Given the description of an element on the screen output the (x, y) to click on. 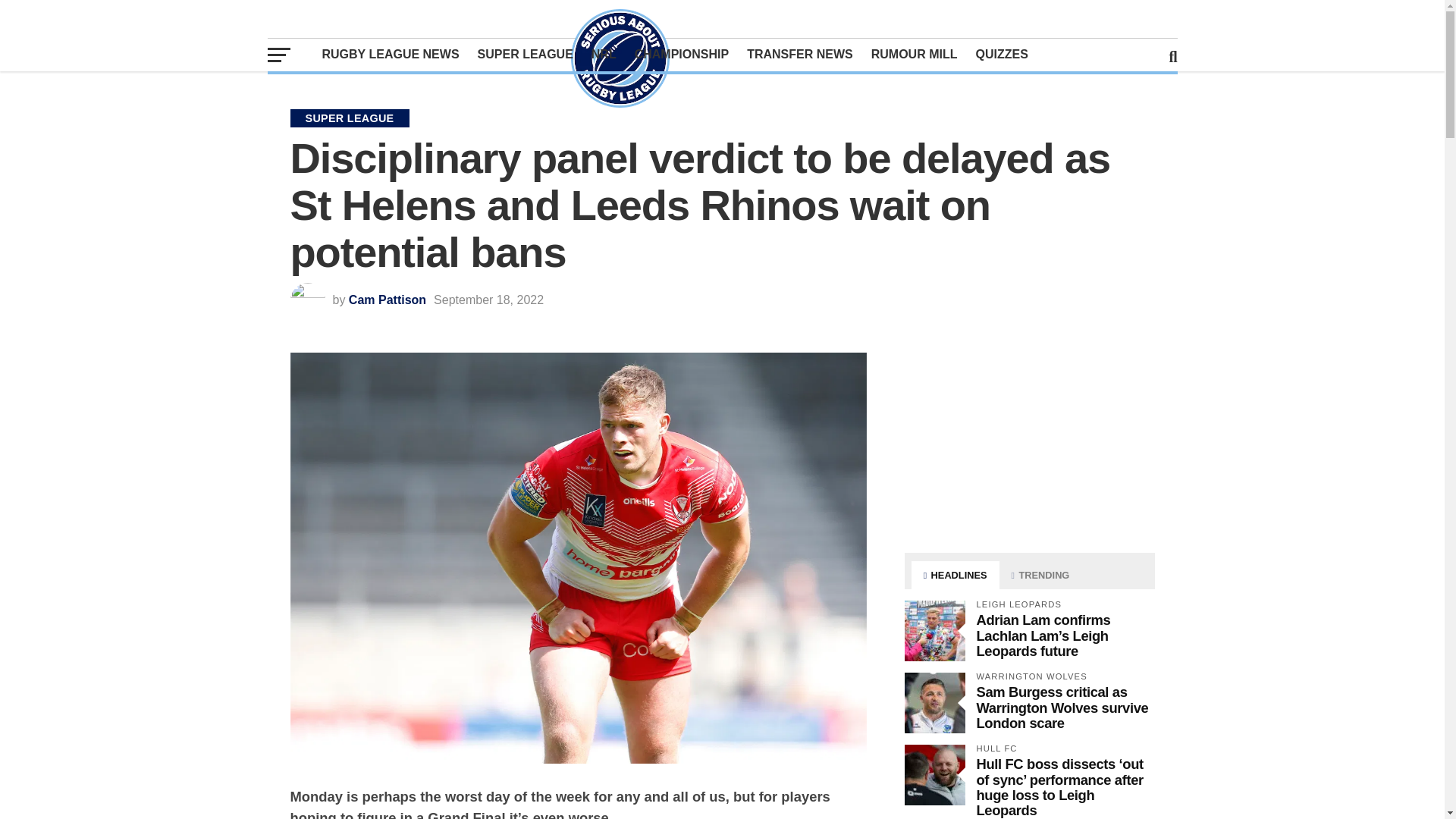
Posts by Cam Pattison (387, 299)
NRL (604, 54)
RUGBY LEAGUE NEWS (390, 54)
SUPER LEAGUE (525, 54)
TRANSFER NEWS (799, 54)
CHAMPIONSHIP (682, 54)
